Given the description of an element on the screen output the (x, y) to click on. 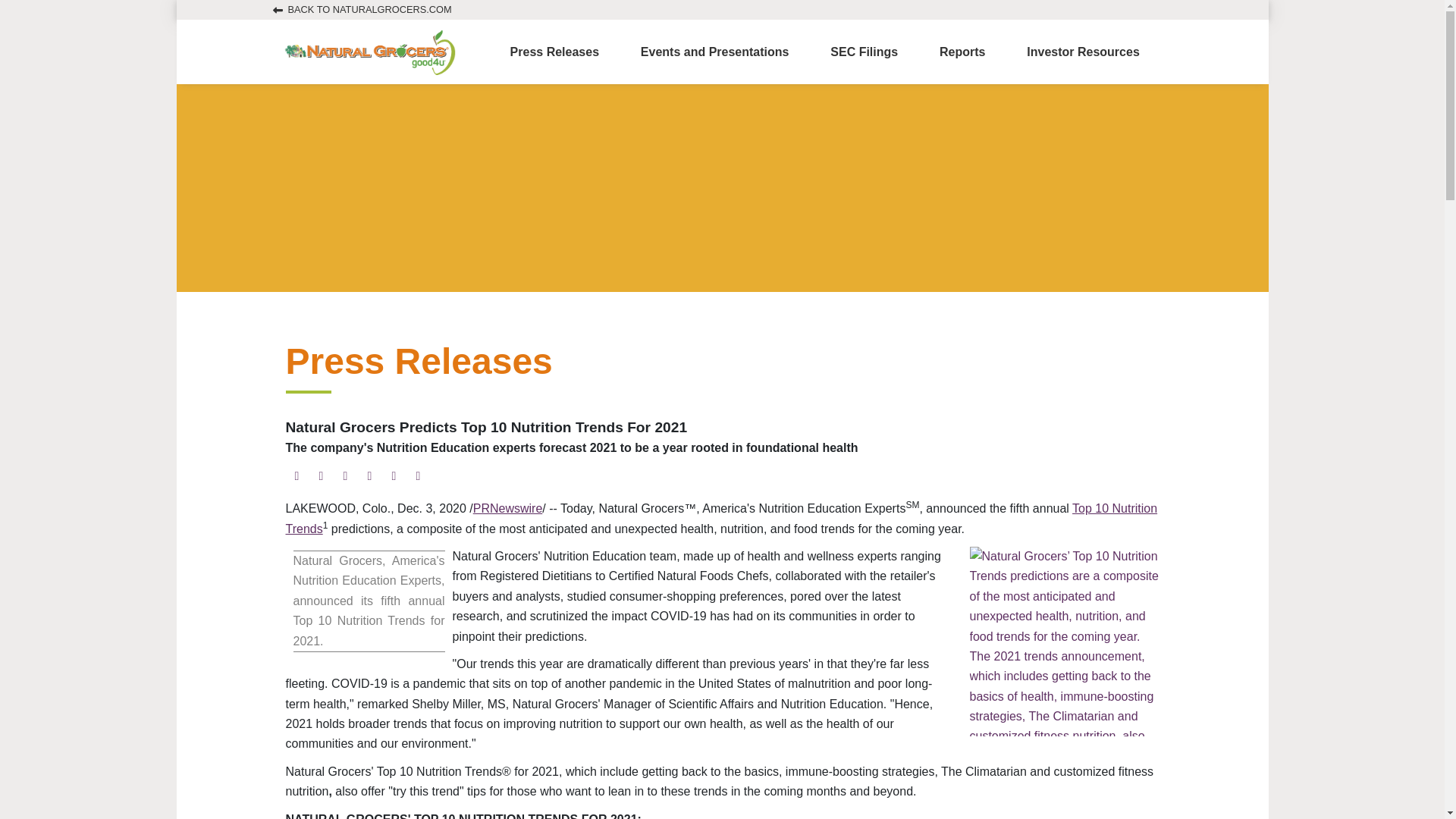
Investor Resources (1083, 51)
Press Releases (554, 51)
Twitter Share (369, 476)
Get the RSS feed for this page (344, 476)
Share via Email (319, 476)
BACK TO NATURALGROCERS.COM (362, 9)
SEC Filings (863, 51)
Linkedin Share (417, 476)
Reports (962, 51)
Events and Presentations (714, 51)
Open a printable version of this page (296, 476)
Facebook Share (392, 476)
